Given the description of an element on the screen output the (x, y) to click on. 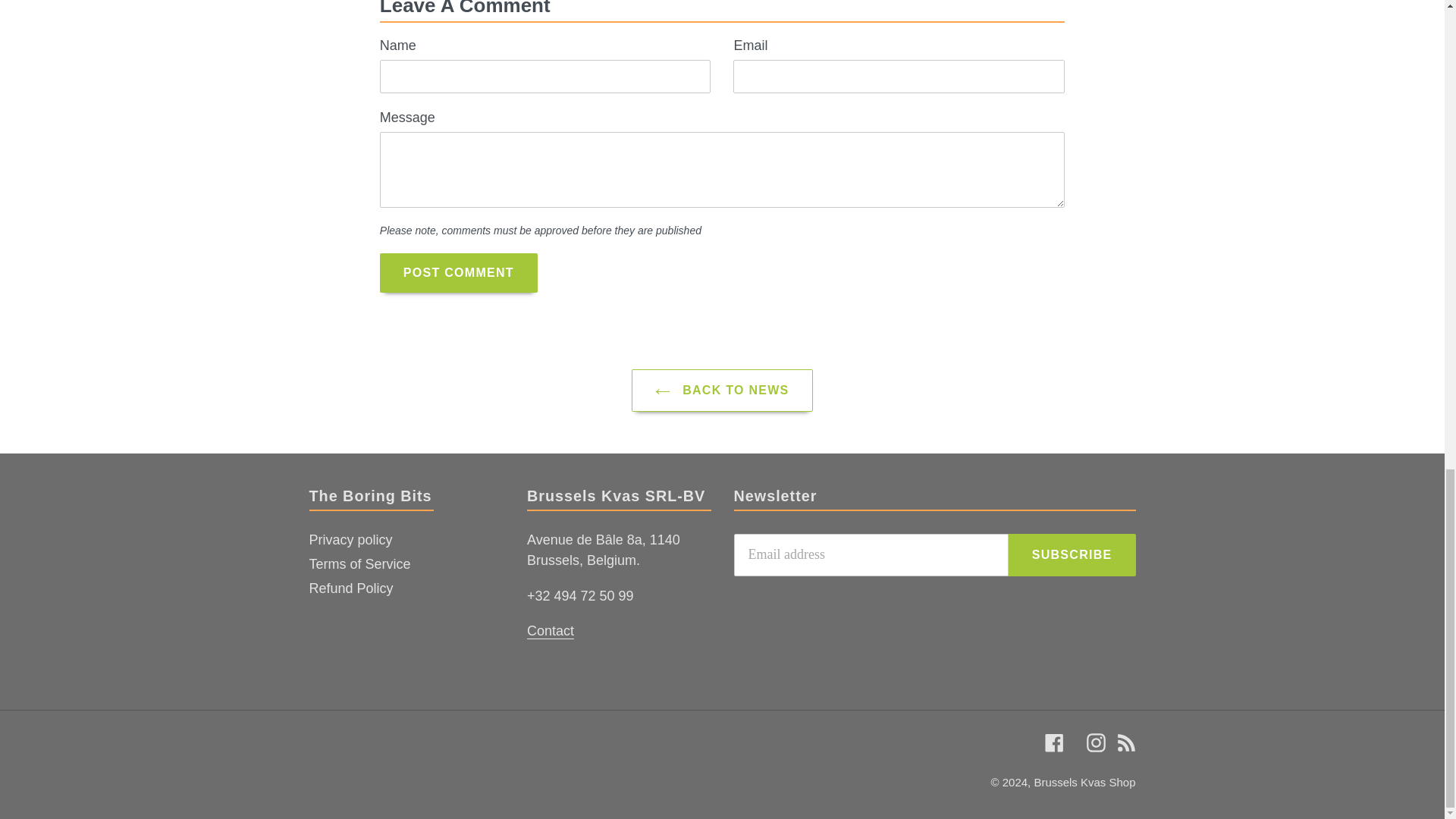
Post comment (458, 272)
Instagram (1095, 742)
Contact (550, 631)
Privacy policy (350, 539)
Brussels Kvas Shop (1084, 781)
RSS (1125, 742)
Terms of Service (359, 563)
Contact Us (550, 631)
Post comment (458, 272)
SUBSCRIBE (1072, 554)
Facebook (1054, 742)
BACK TO NEWS (721, 390)
Refund Policy (350, 588)
